Given the description of an element on the screen output the (x, y) to click on. 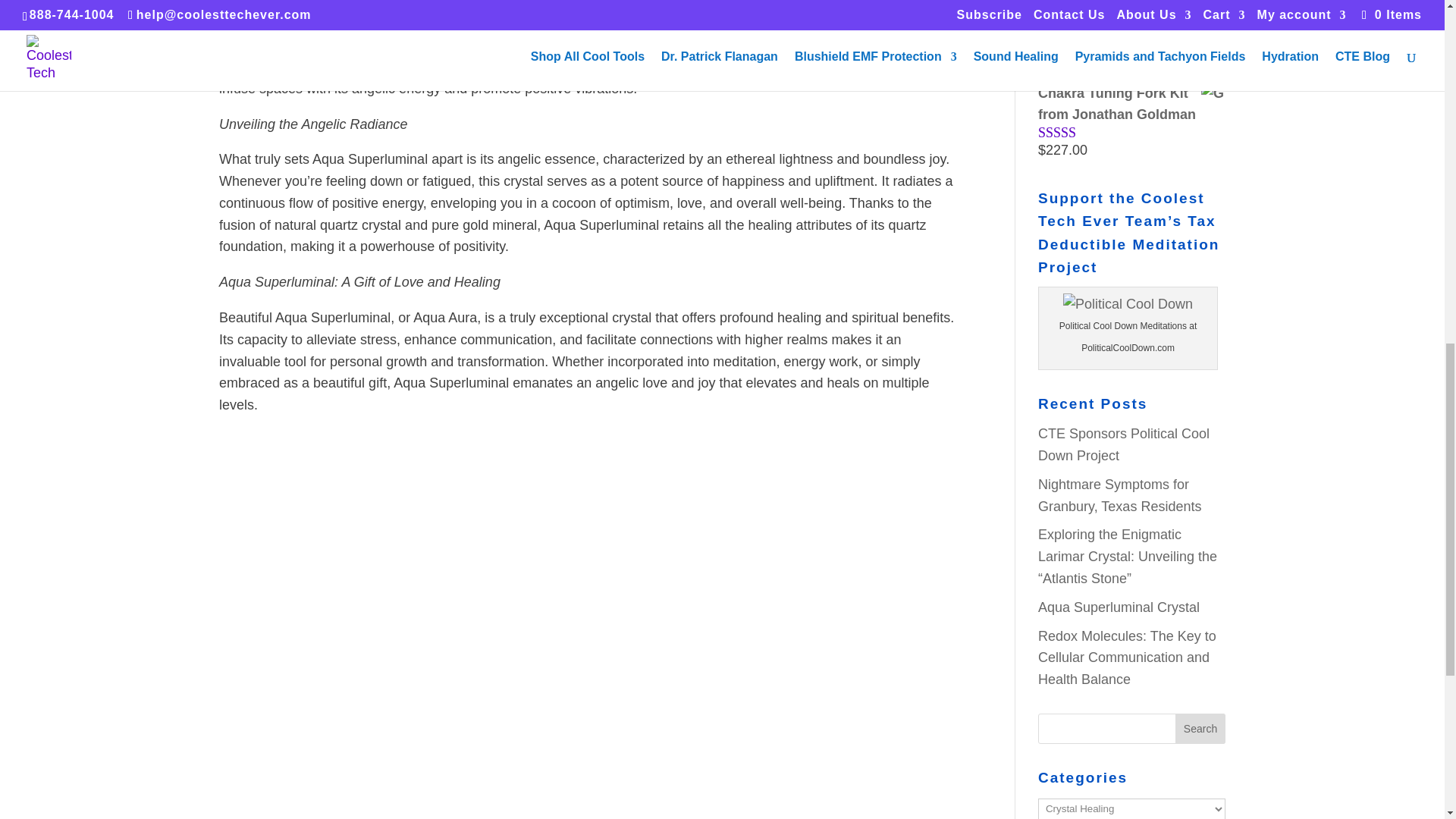
Nightmare Symptoms for Granbury, Texas Residents (1119, 495)
Chakra Tuning Fork Kit from Jonathan Goldman (1131, 103)
The Flanagan Experiments DVD (1131, 20)
CTE Sponsors Political Cool Down Project (1123, 444)
Search (1199, 728)
Aqua Superluminal Crystal (1118, 607)
